Given the description of an element on the screen output the (x, y) to click on. 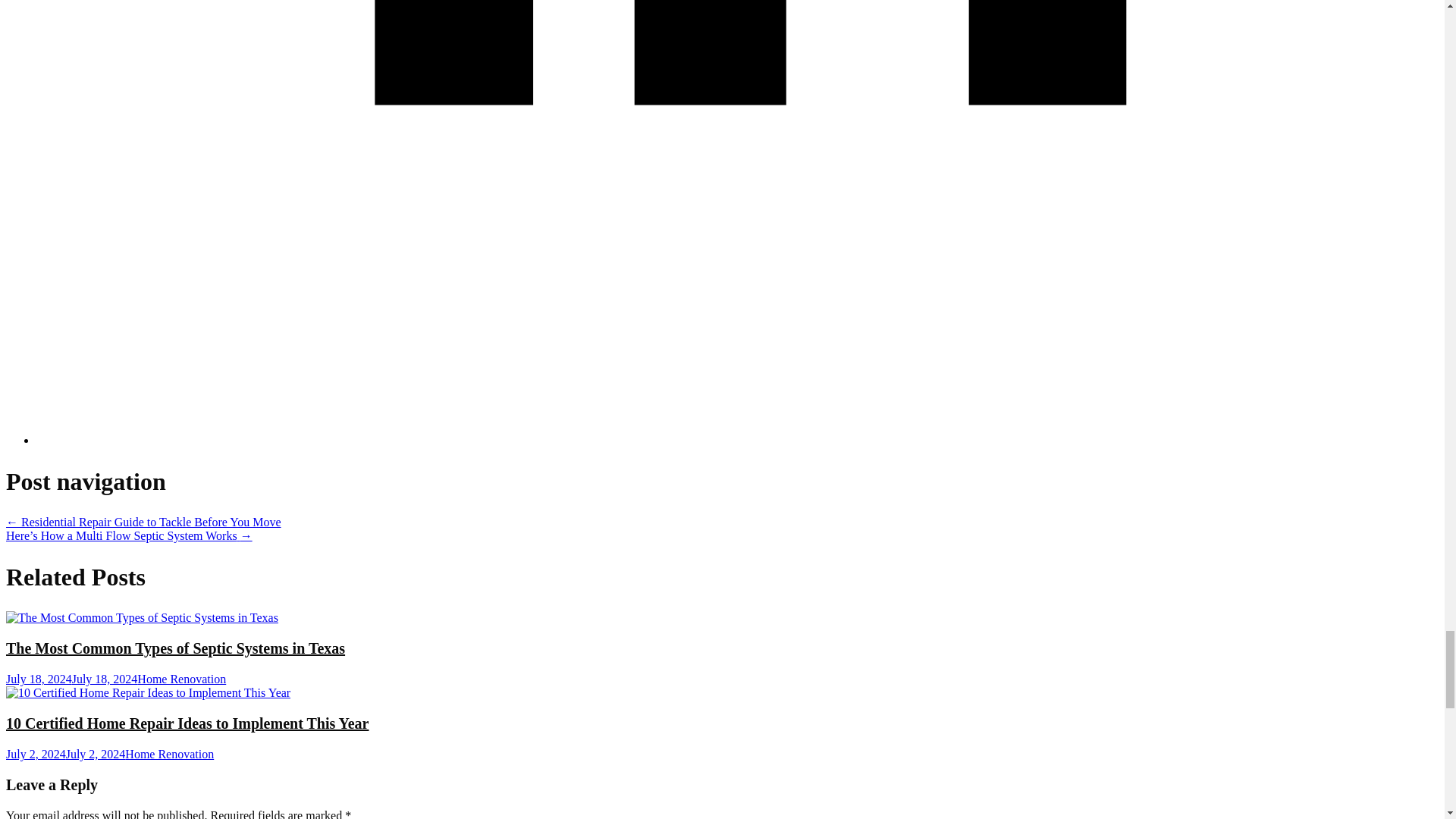
July 18, 2024July 18, 2024 (70, 678)
July 2, 2024July 2, 2024 (65, 753)
10 Certified Home Repair Ideas to Implement This Year (186, 723)
Home Renovation (169, 753)
The Most Common Types of Septic Systems in Texas (175, 647)
Home Renovation (180, 678)
